Given the description of an element on the screen output the (x, y) to click on. 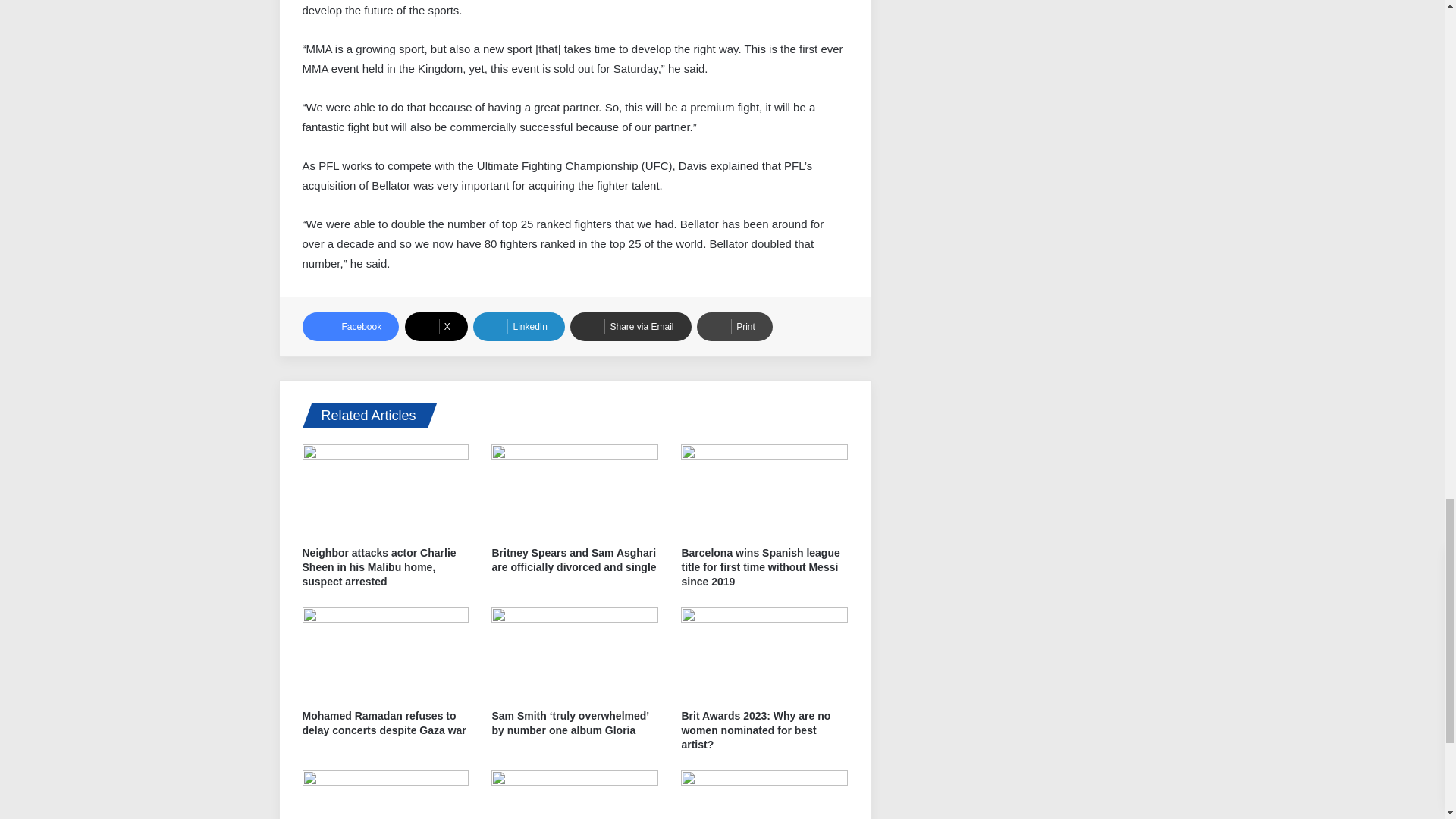
X (435, 326)
Print (735, 326)
X (435, 326)
Facebook (349, 326)
Facebook (349, 326)
LinkedIn (518, 326)
Share via Email (630, 326)
Share via Email (630, 326)
LinkedIn (518, 326)
Mohamed Ramadan refuses to delay concerts despite Gaza war (383, 723)
Print (735, 326)
